Given the description of an element on the screen output the (x, y) to click on. 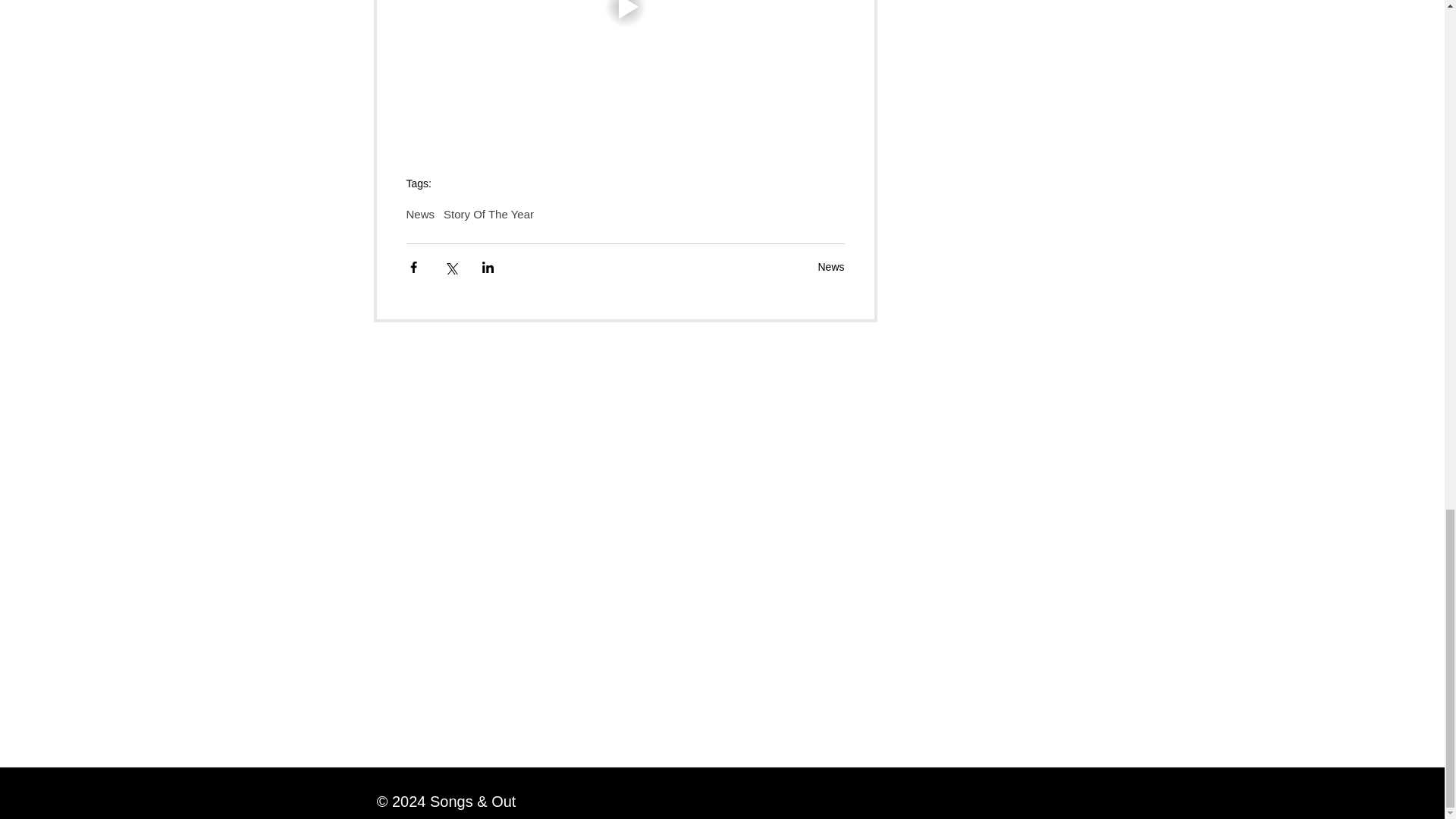
Story Of The Year (489, 214)
News (420, 214)
News (830, 266)
